Given the description of an element on the screen output the (x, y) to click on. 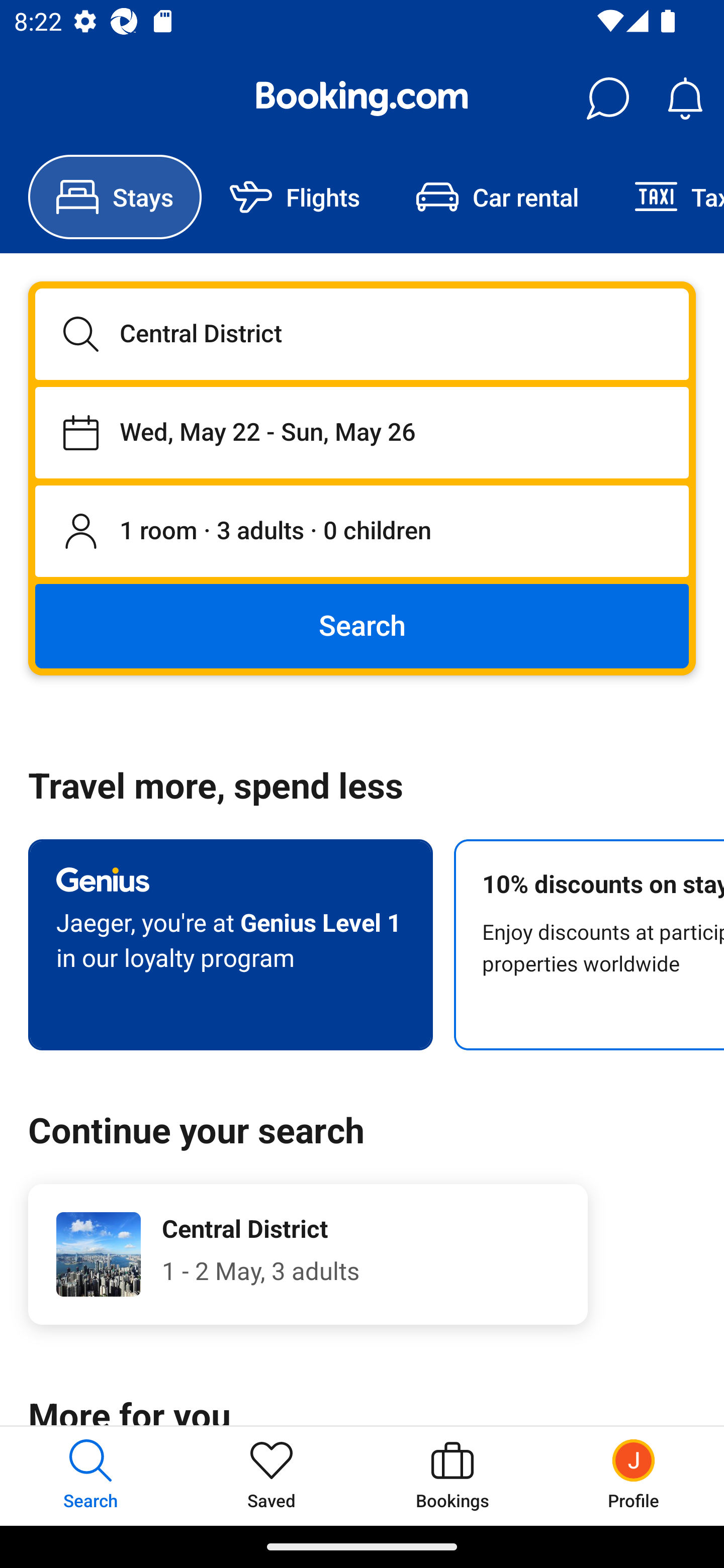
Messages (607, 98)
Notifications (685, 98)
Stays (114, 197)
Flights (294, 197)
Car rental (497, 197)
Taxi (665, 197)
Central District (361, 333)
Staying from Wed, May 22 until Sun, May 26 (361, 432)
1 room, 3 adults, 0 children (361, 531)
Search (361, 625)
Central District 1 - 2 May, 3 adults (307, 1253)
Saved (271, 1475)
Bookings (452, 1475)
Profile (633, 1475)
